Given the description of an element on the screen output the (x, y) to click on. 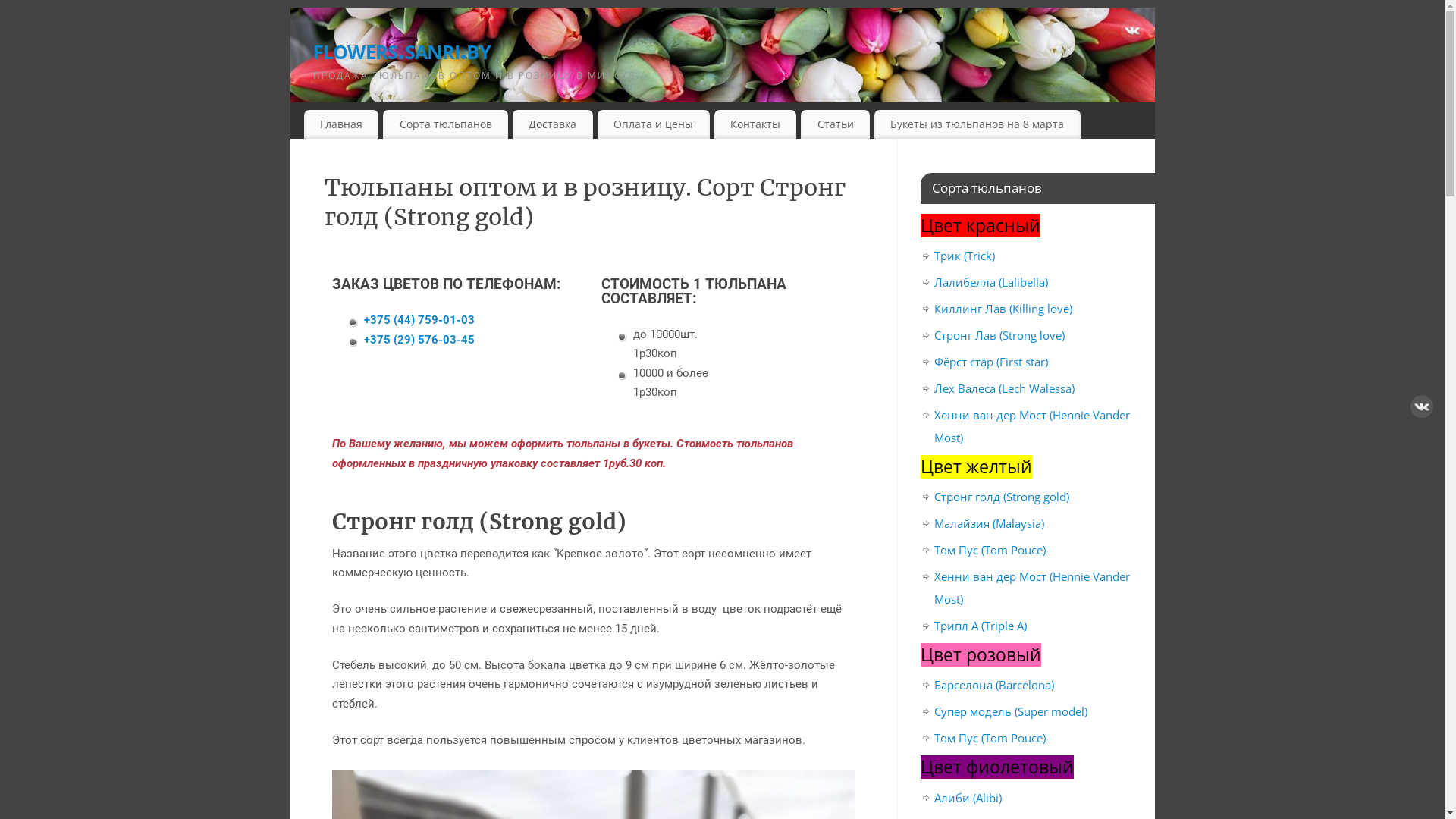
VK Element type: hover (1131, 32)
+375 (44) 759-01-03 Element type: text (419, 319)
flowers.sanri.by Element type: text (733, 49)
VK Element type: hover (1421, 409)
+375 (29) 576-03-45 Element type: text (419, 339)
